Given the description of an element on the screen output the (x, y) to click on. 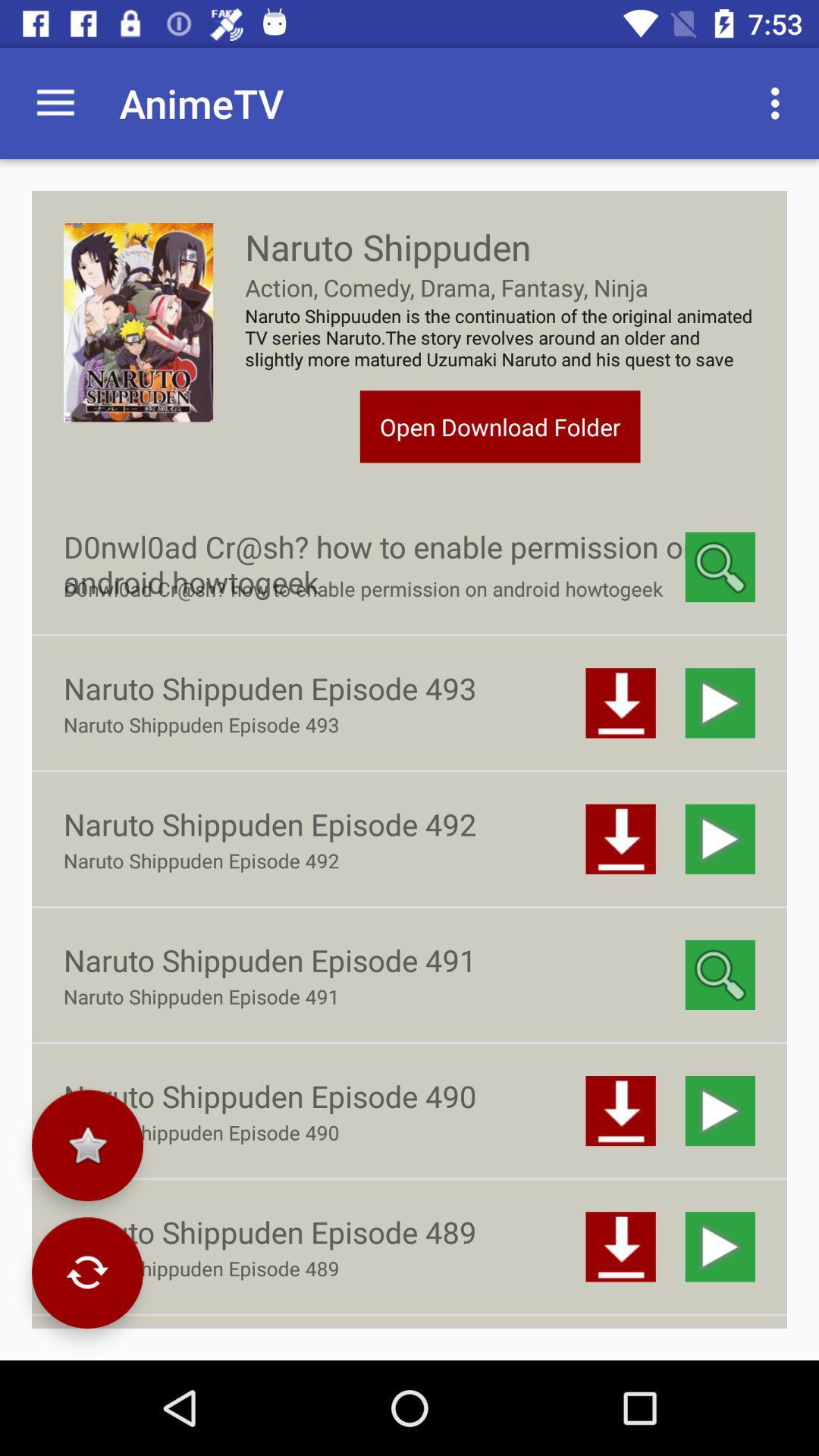
tap item above naruto shippuuden is (779, 103)
